Given the description of an element on the screen output the (x, y) to click on. 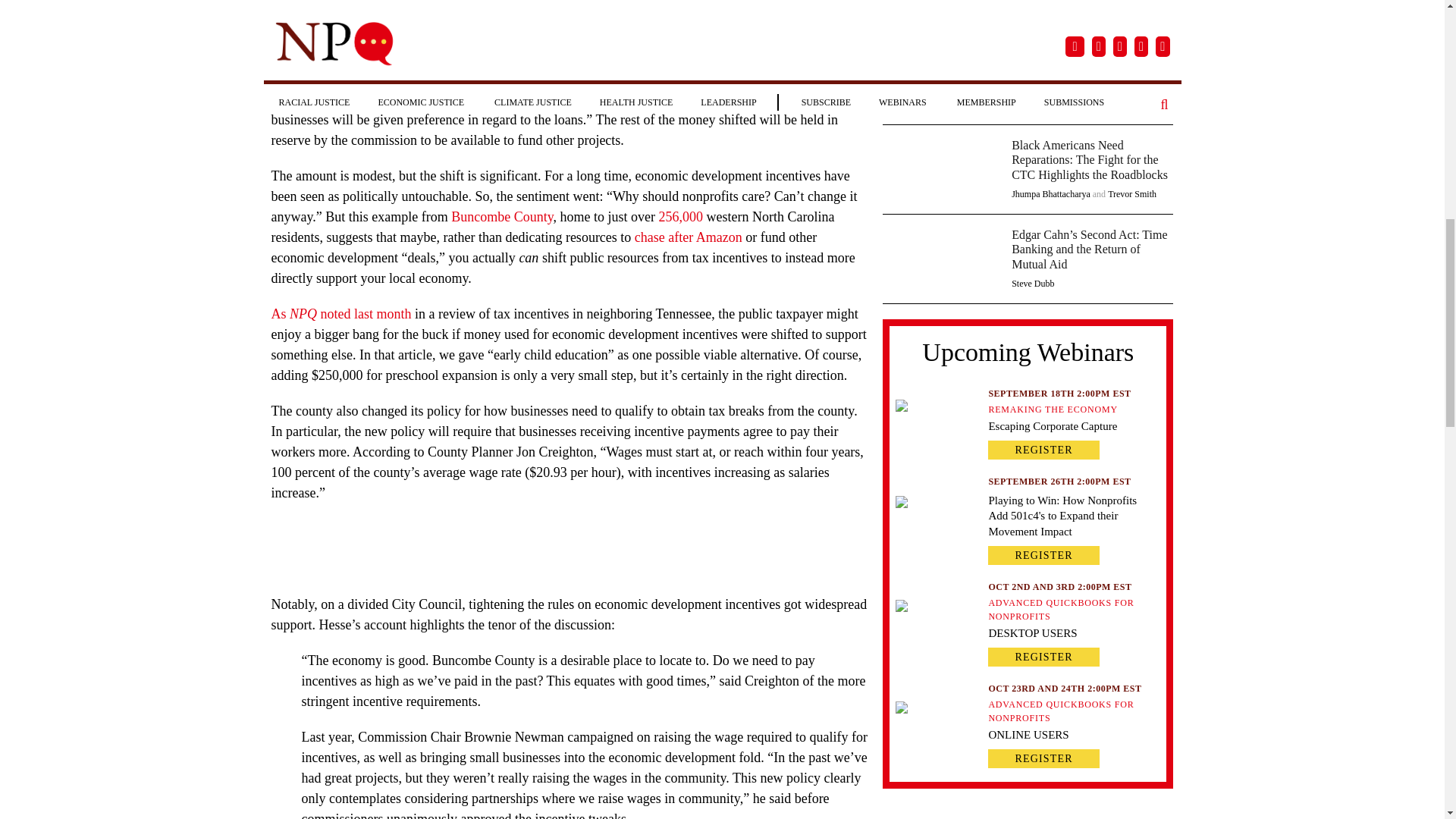
256,000 (681, 216)
Buncombe County (502, 216)
chase after Amazon (688, 237)
As NPQ noted last month (341, 313)
